Given the description of an element on the screen output the (x, y) to click on. 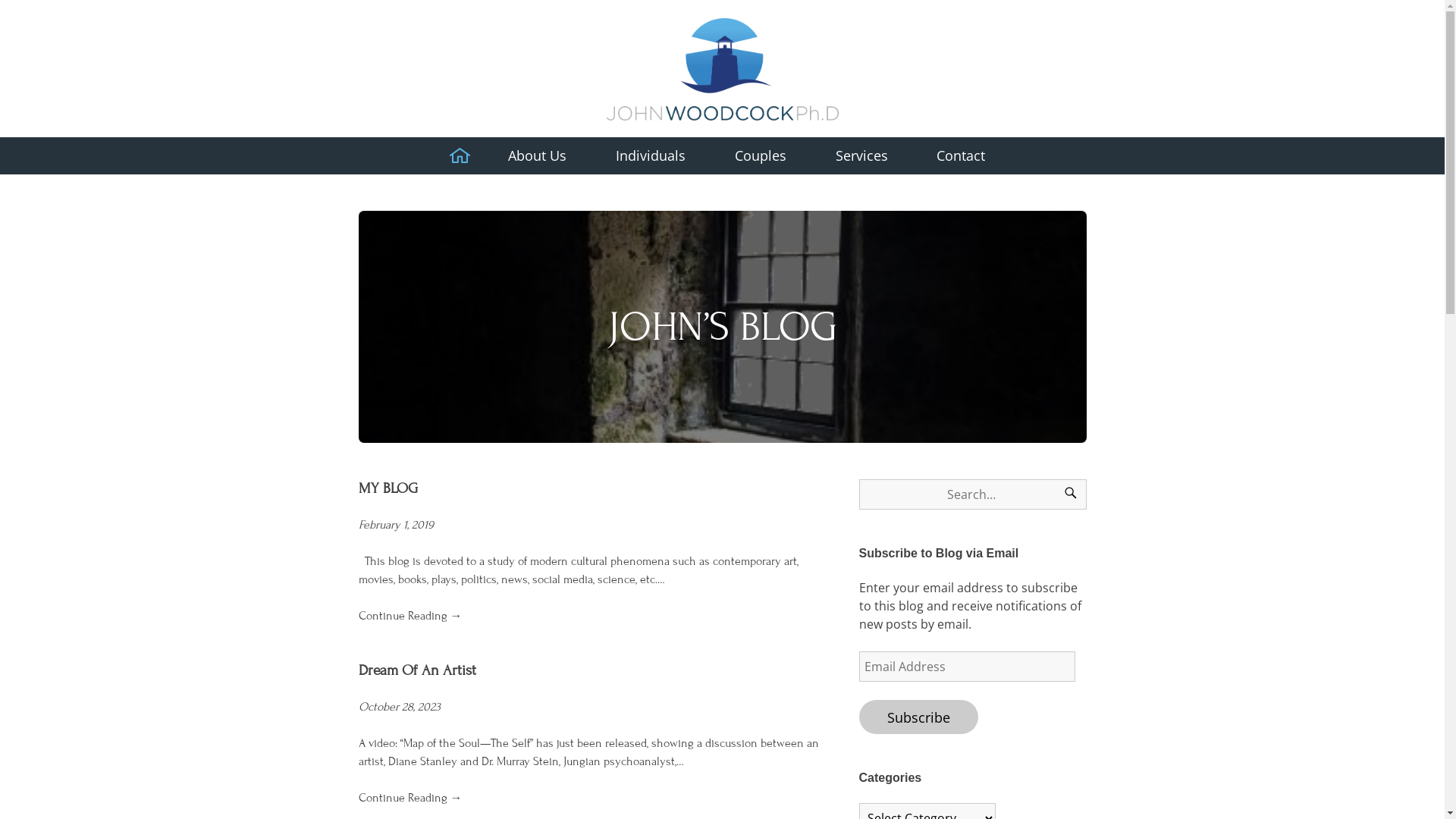
Contact Element type: text (961, 155)
Individuals Element type: text (650, 155)
October 28, 2023 Element type: text (398, 706)
Subscribe Element type: text (917, 716)
Dream Of An Artist Element type: text (416, 669)
Home Element type: text (458, 155)
Search Element type: hover (1069, 494)
About Us Element type: text (537, 155)
Services Element type: text (861, 155)
February 1, 2019 Element type: text (395, 524)
MY BLOG Element type: text (387, 487)
Couples Element type: text (759, 155)
Return to homepage Element type: hover (722, 66)
